Given the description of an element on the screen output the (x, y) to click on. 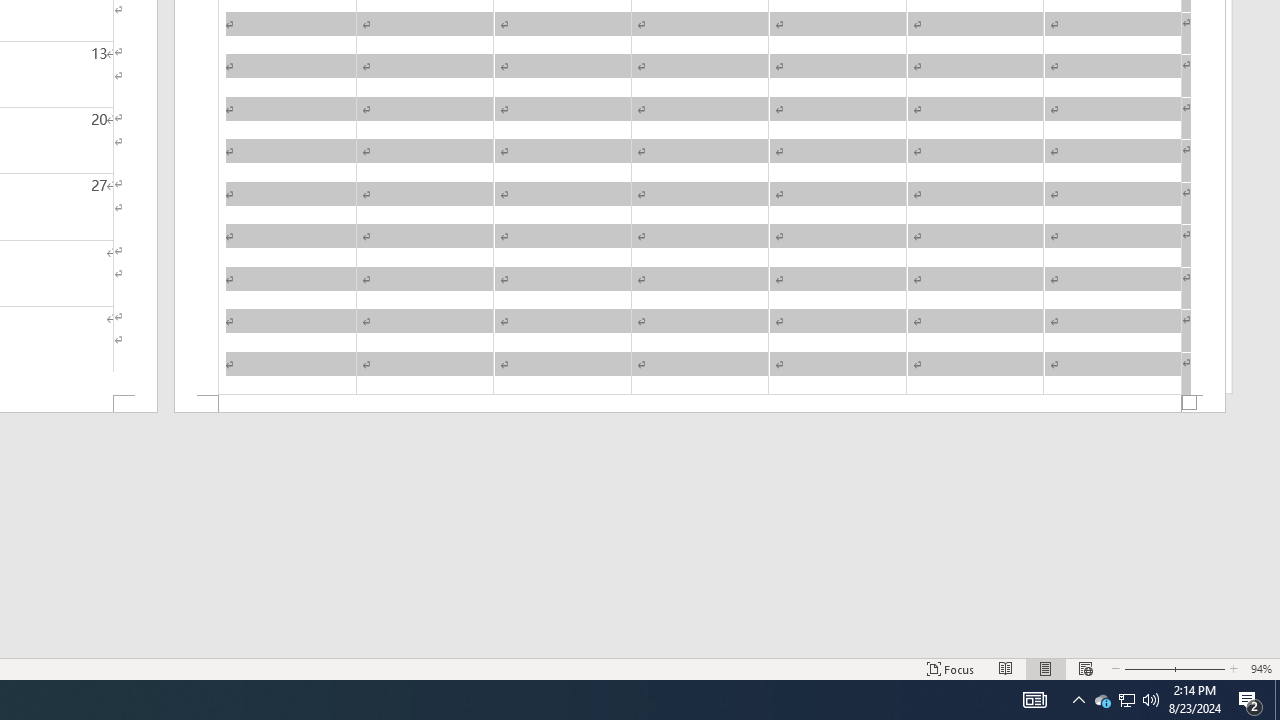
Read Mode (1005, 668)
Focus  (951, 668)
Zoom Out (1147, 668)
Zoom In (1199, 668)
Footer -Section 1- (700, 404)
Print Layout (1046, 668)
Web Layout (1085, 668)
